Given the description of an element on the screen output the (x, y) to click on. 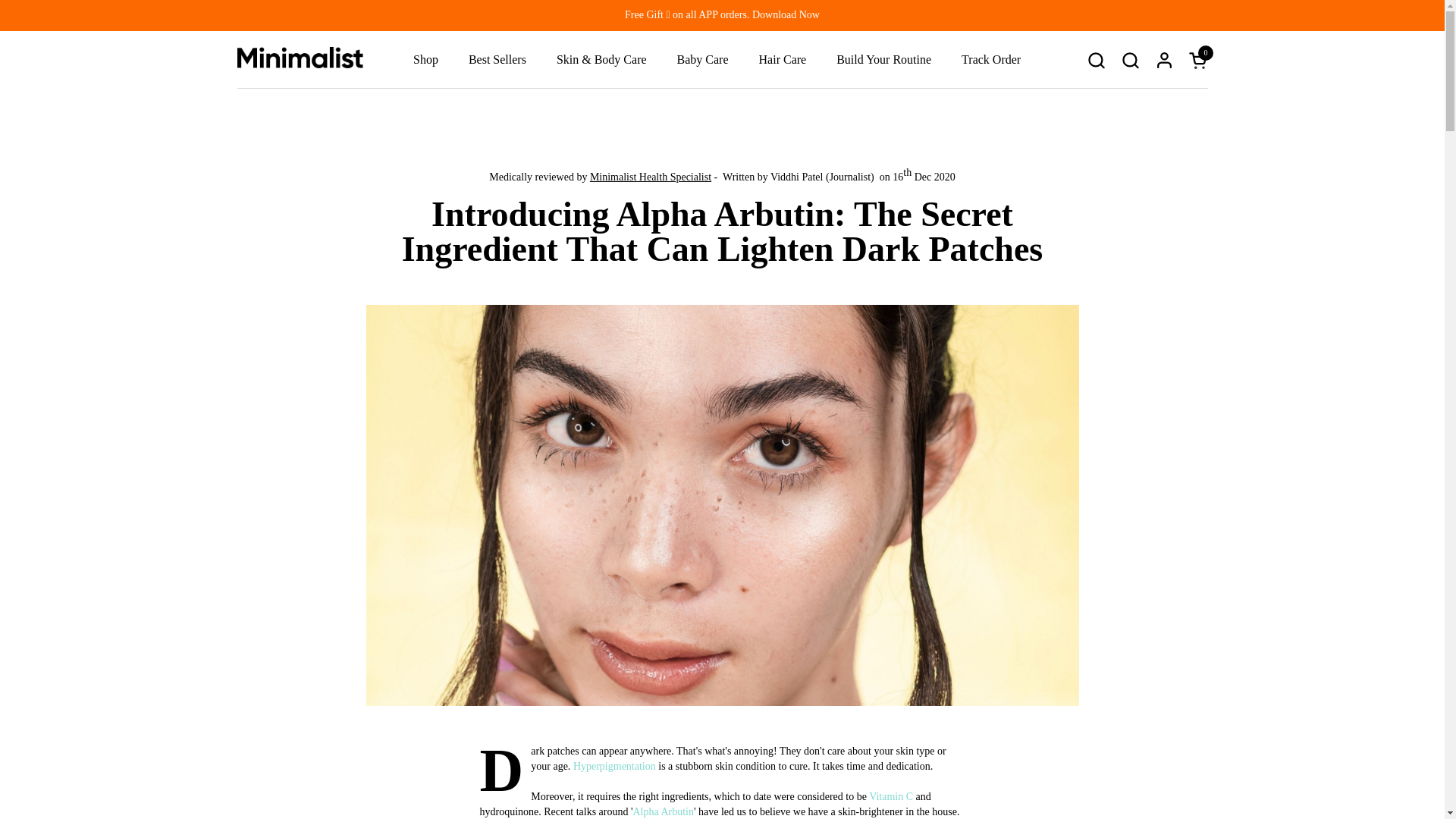
Minimalist (298, 56)
Shop (424, 59)
Best Sellers (496, 59)
